Given the description of an element on the screen output the (x, y) to click on. 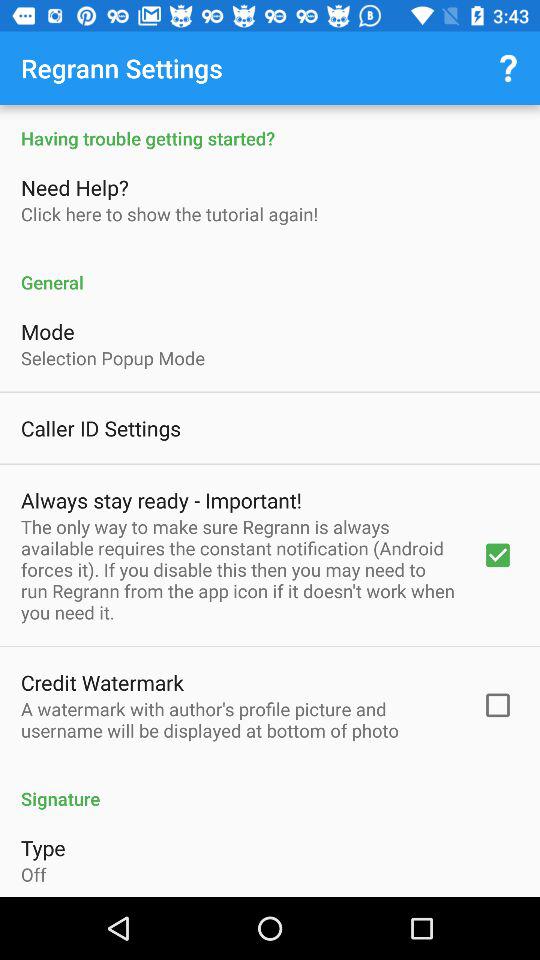
press click here to (169, 213)
